Given the description of an element on the screen output the (x, y) to click on. 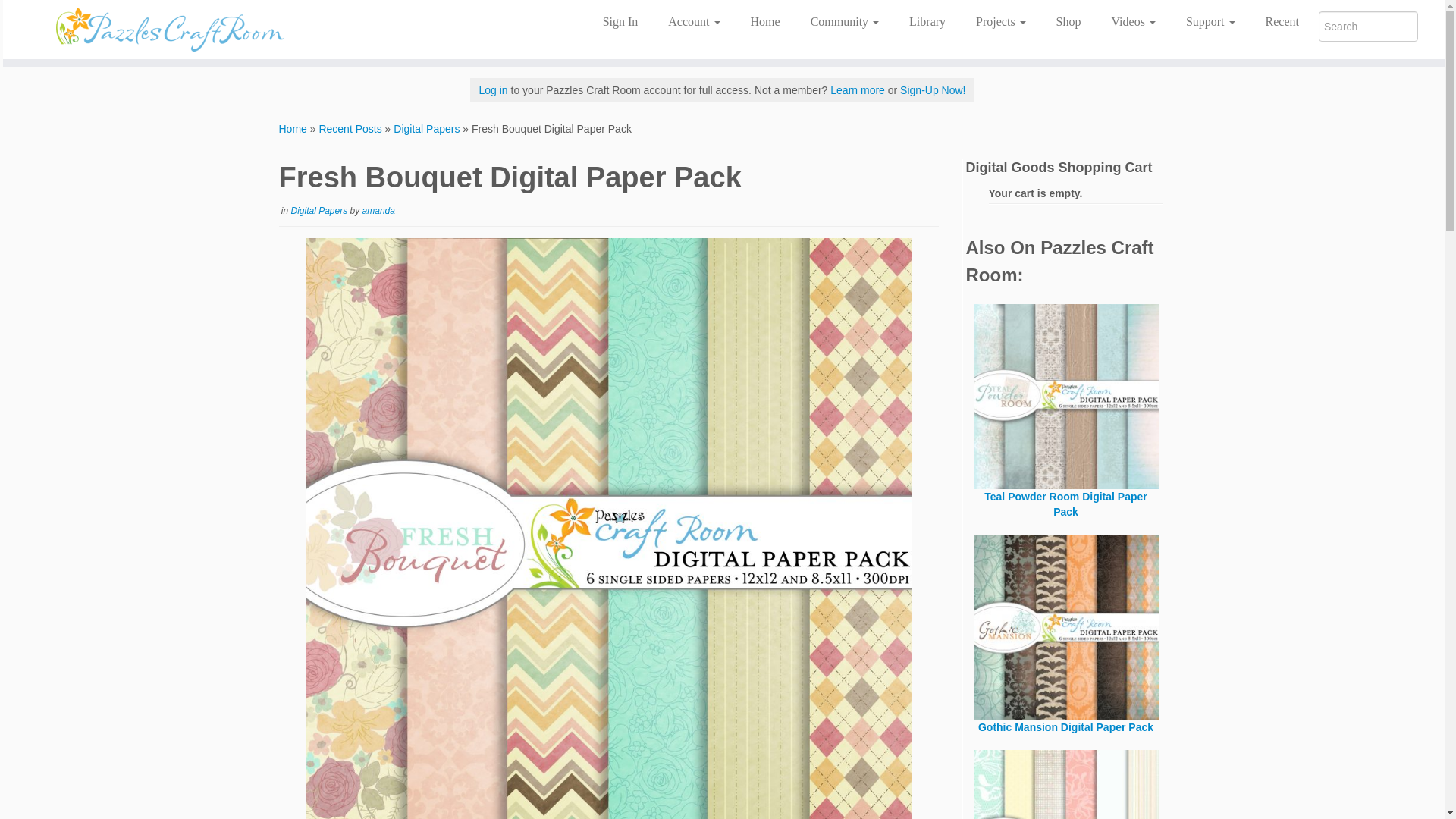
Account (693, 21)
Projects (1000, 21)
Teal Powder Room Digital Paper Pack (1066, 453)
Digital Papers (426, 128)
View all posts by amanda (378, 210)
Gothic Mansion Digital Paper Pack (1066, 676)
Home (764, 21)
Search (1368, 26)
Pazzles Craft Room (293, 128)
Recent Posts (349, 128)
